Given the description of an element on the screen output the (x, y) to click on. 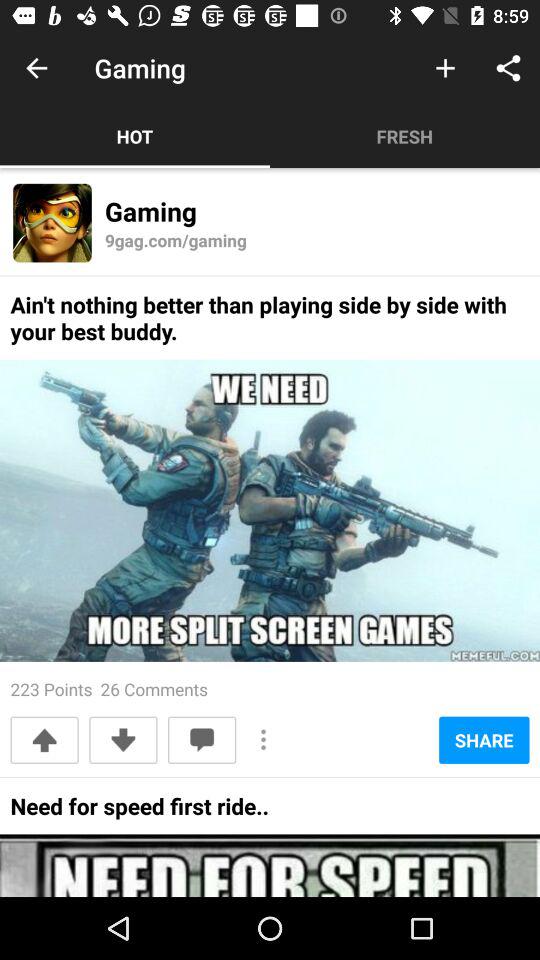
click the icon next to share item (263, 739)
